Given the description of an element on the screen output the (x, y) to click on. 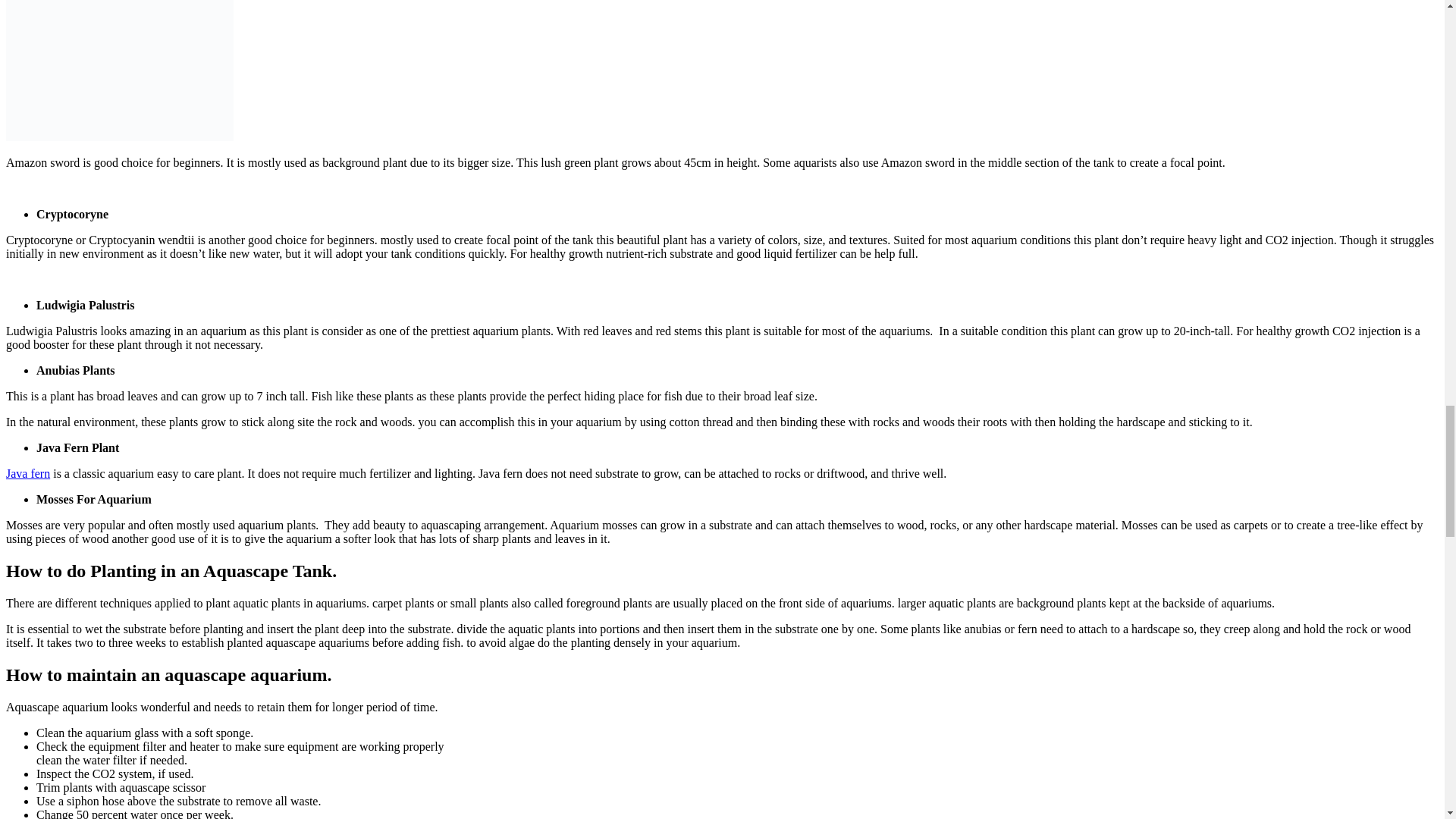
Java fern (27, 472)
